Given the description of an element on the screen output the (x, y) to click on. 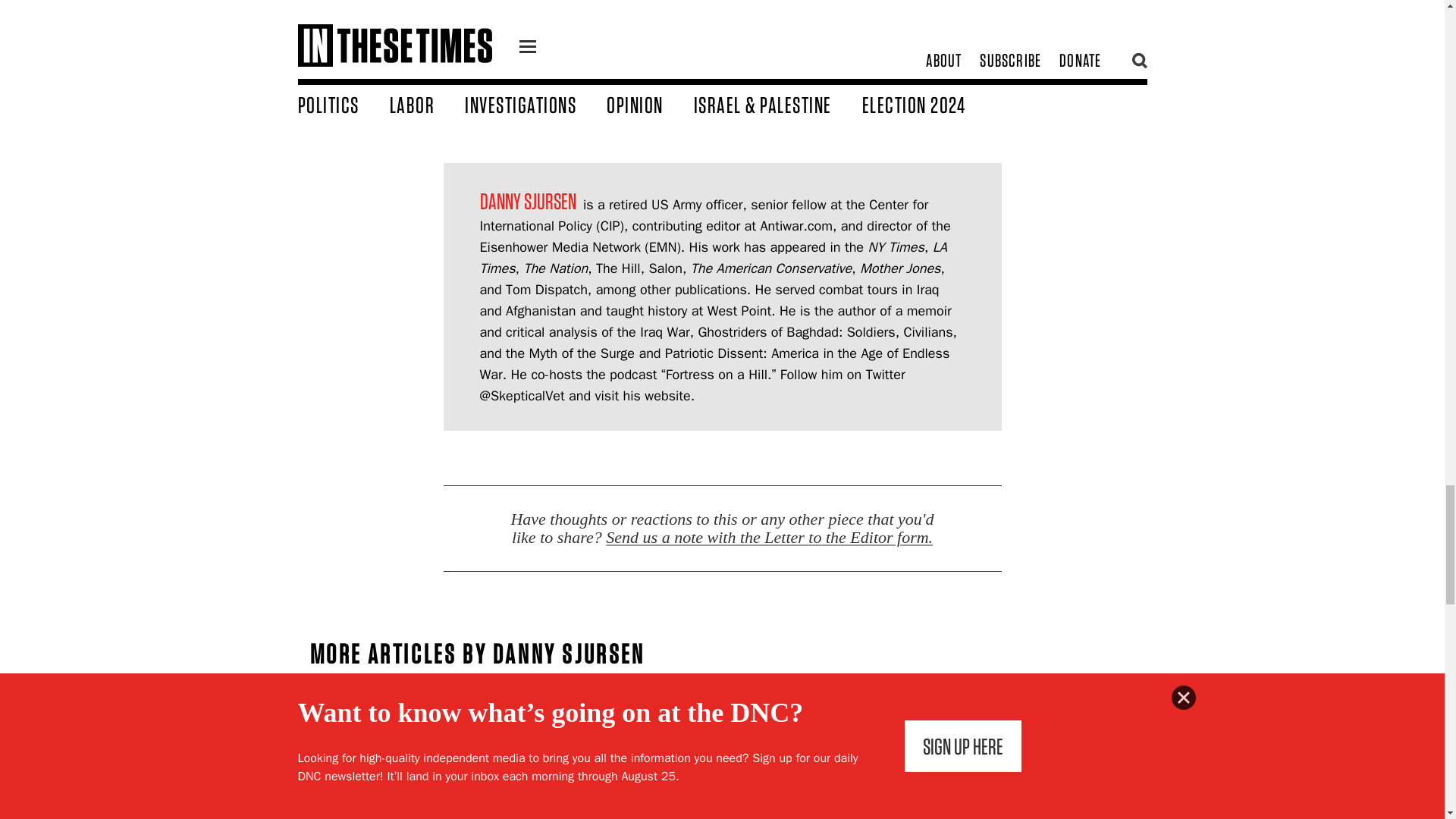
This external link will open in a new window (521, 395)
This external link will open in a new window (703, 215)
This external link will open in a new window (667, 395)
This external link will open in a new window (717, 342)
This external link will open in a new window (714, 363)
This external link will open in a new window (796, 225)
This external link will open in a new window (716, 374)
